Given the description of an element on the screen output the (x, y) to click on. 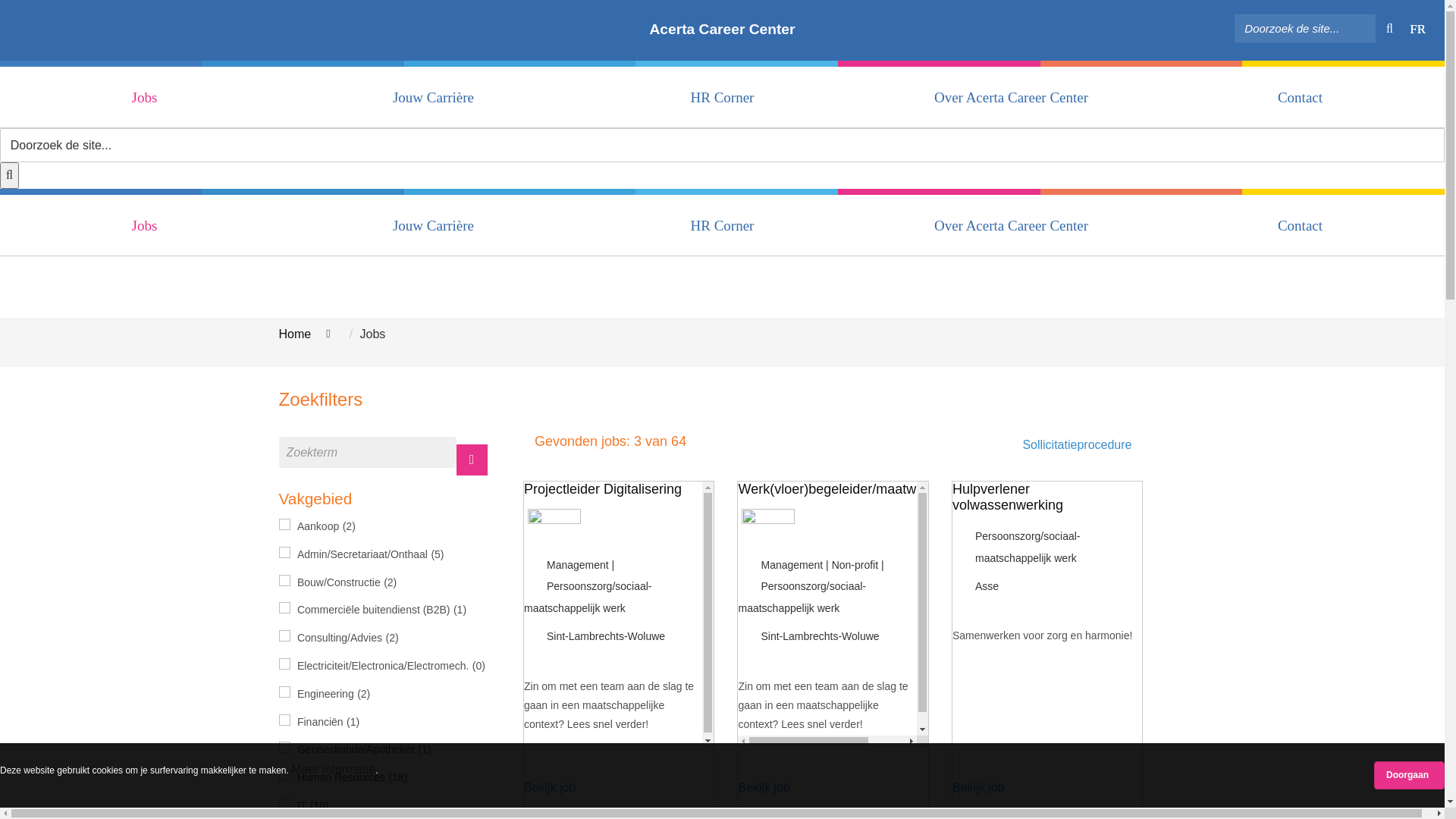
Human Resources (18) Element type: text (348, 776)
Bekijk job Element type: text (978, 788)
Contact Element type: text (1299, 224)
FR Element type: text (1417, 29)
Projectleider Digitalisering Element type: text (602, 488)
Doorgaan Element type: text (1409, 775)
HR Corner Element type: text (721, 224)
Jobs Element type: text (144, 224)
HR Corner Element type: text (721, 96)
Electriciteit/Electronica/Electromech. (0) Element type: text (387, 664)
Jobs Element type: text (144, 96)
Bouw/Constructie (2) Element type: text (343, 581)
Home Element type: text (295, 333)
Werk(vloer)begeleider/maatwerkcoach Element type: text (854, 488)
Geneeskunde/Apotheker (1) Element type: text (360, 748)
Admin/Secretariaat/Onthaal (5) Element type: text (366, 553)
Contact Element type: text (1299, 96)
Sollicitatieprocedure Element type: text (1076, 445)
IT (10) Element type: text (309, 804)
Over Acerta Career Center Element type: text (1010, 96)
Meer informatie Element type: text (333, 768)
Over Acerta Career Center Element type: text (1010, 224)
Consulting/Advies (2) Element type: text (343, 636)
Zoekfilters Element type: text (390, 399)
Bekijk job Element type: text (763, 788)
Hulpverlener volwassenwerking Element type: text (1007, 497)
Aankoop (2) Element type: text (322, 525)
Bekijk job Element type: text (549, 788)
Engineering (2) Element type: text (329, 693)
